Given the description of an element on the screen output the (x, y) to click on. 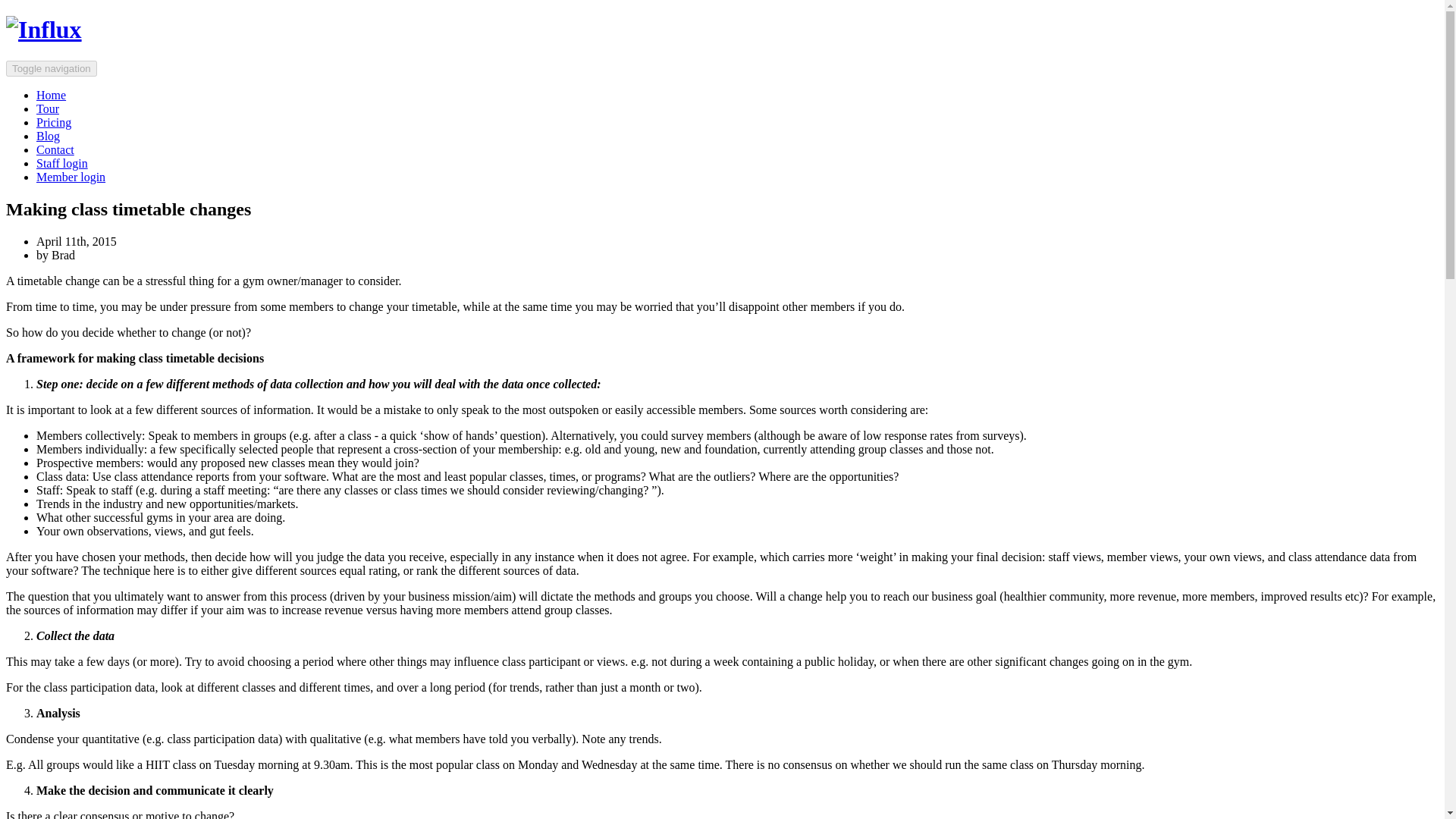
Member login (70, 176)
Pricing (53, 122)
Blog (47, 135)
Staff login (61, 163)
Toggle navigation (51, 68)
Tour (47, 108)
Contact (55, 149)
Home (50, 94)
